Given the description of an element on the screen output the (x, y) to click on. 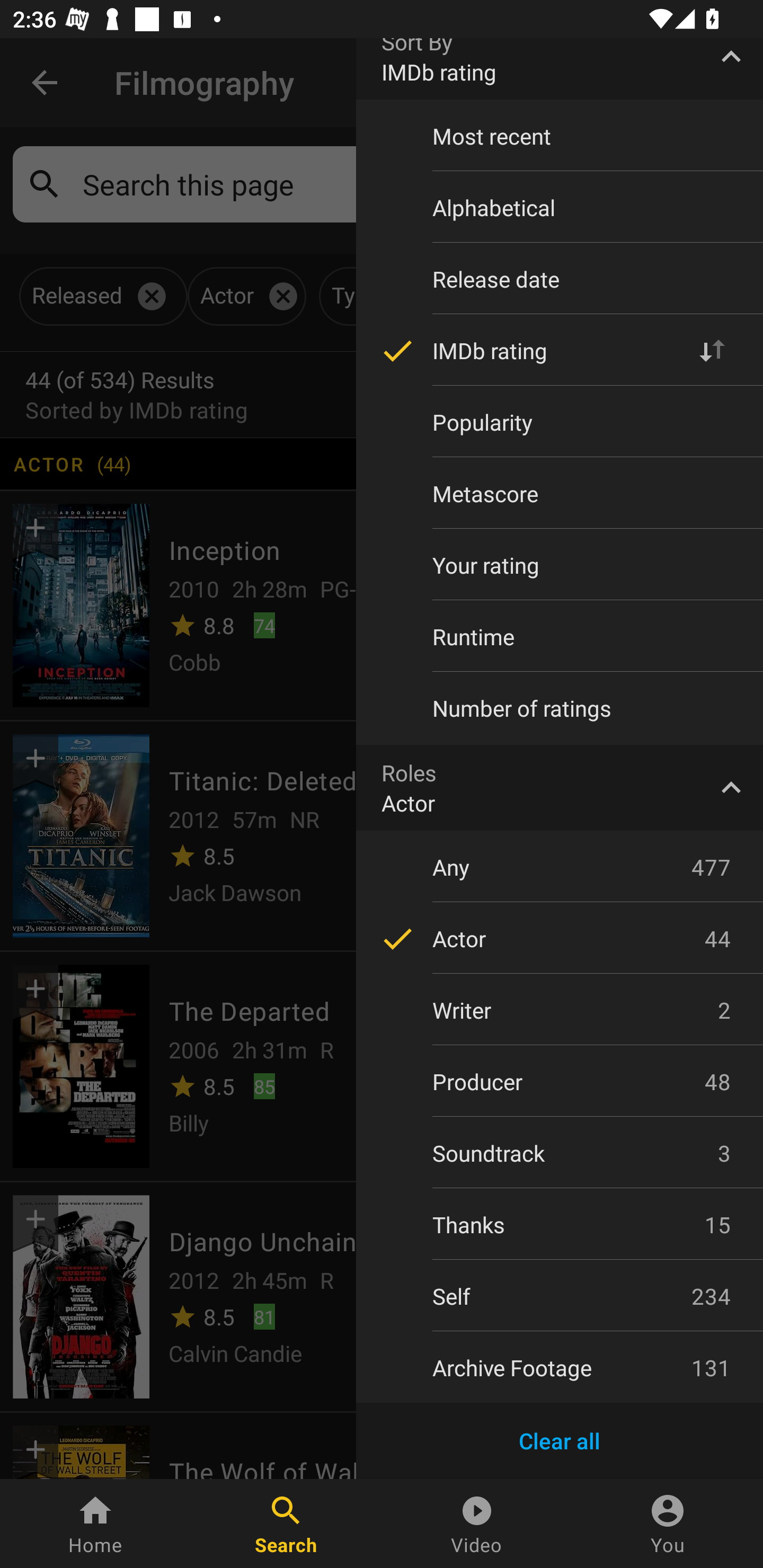
Sort By IMDb rating (559, 68)
Most recent (559, 135)
Alphabetical (559, 207)
Release date (559, 278)
IMDb rating (559, 350)
Popularity (559, 422)
Metascore (559, 493)
Your rating (559, 564)
Runtime (559, 636)
Number of ratings (559, 707)
Roles Actor (559, 787)
Any 477 (559, 866)
Actor 44 (559, 938)
Writer 2 (559, 1010)
Producer 48 (559, 1081)
Soundtrack 3 (559, 1152)
Thanks 15 (559, 1224)
Self 234 (559, 1295)
Archive Footage 131 (559, 1367)
Clear all (559, 1440)
Home (95, 1523)
Video (476, 1523)
You (667, 1523)
